Given the description of an element on the screen output the (x, y) to click on. 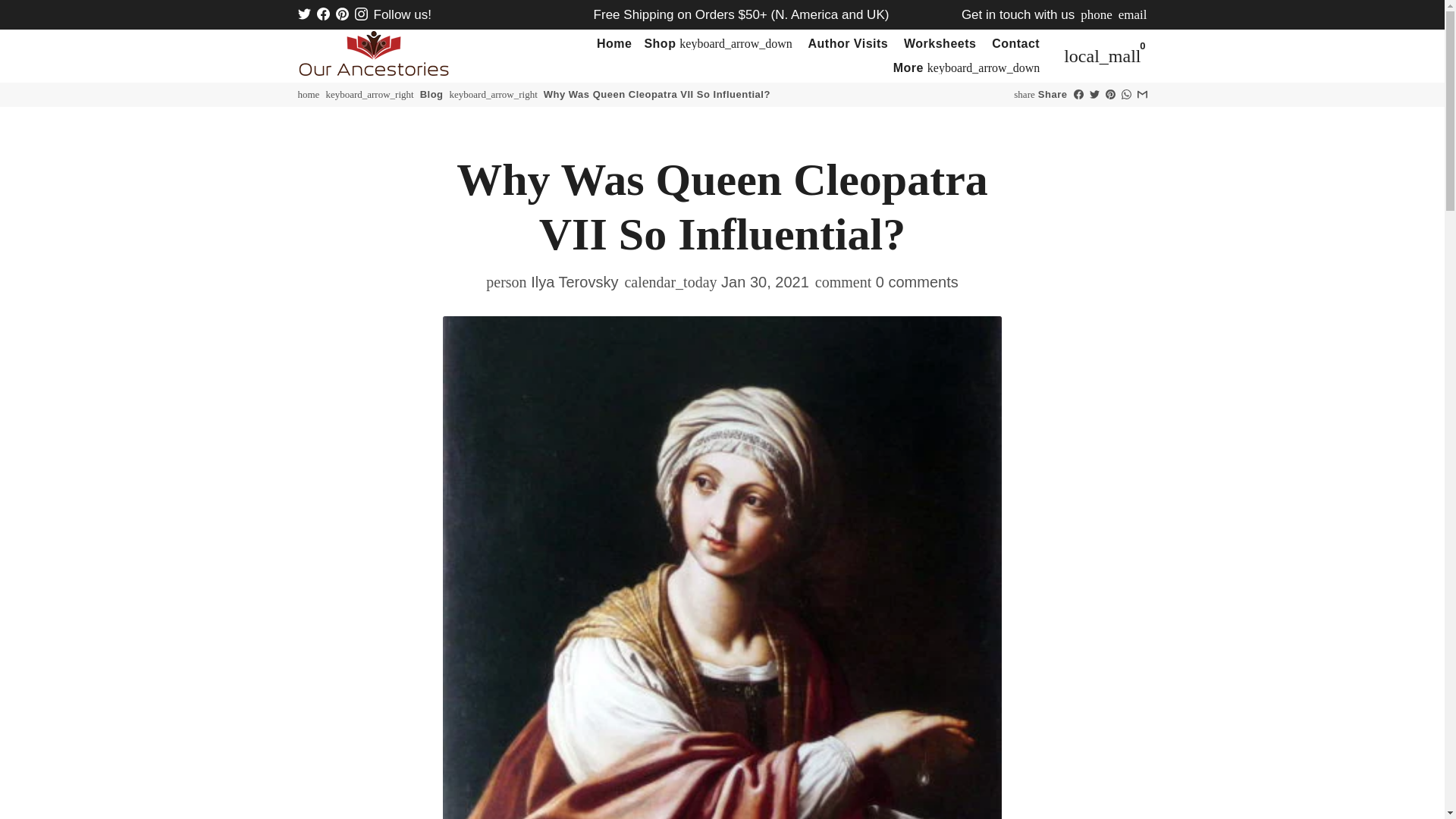
phone (1096, 14)
Our Ancestories on Facebook (323, 14)
Cart (1102, 55)
Home (614, 43)
Our Ancestories on Twitter (303, 14)
4162719976 (1096, 14)
email (1132, 14)
Our Ancestories on Instagram (361, 14)
Our Ancestories on Pinterest (340, 14)
